Given the description of an element on the screen output the (x, y) to click on. 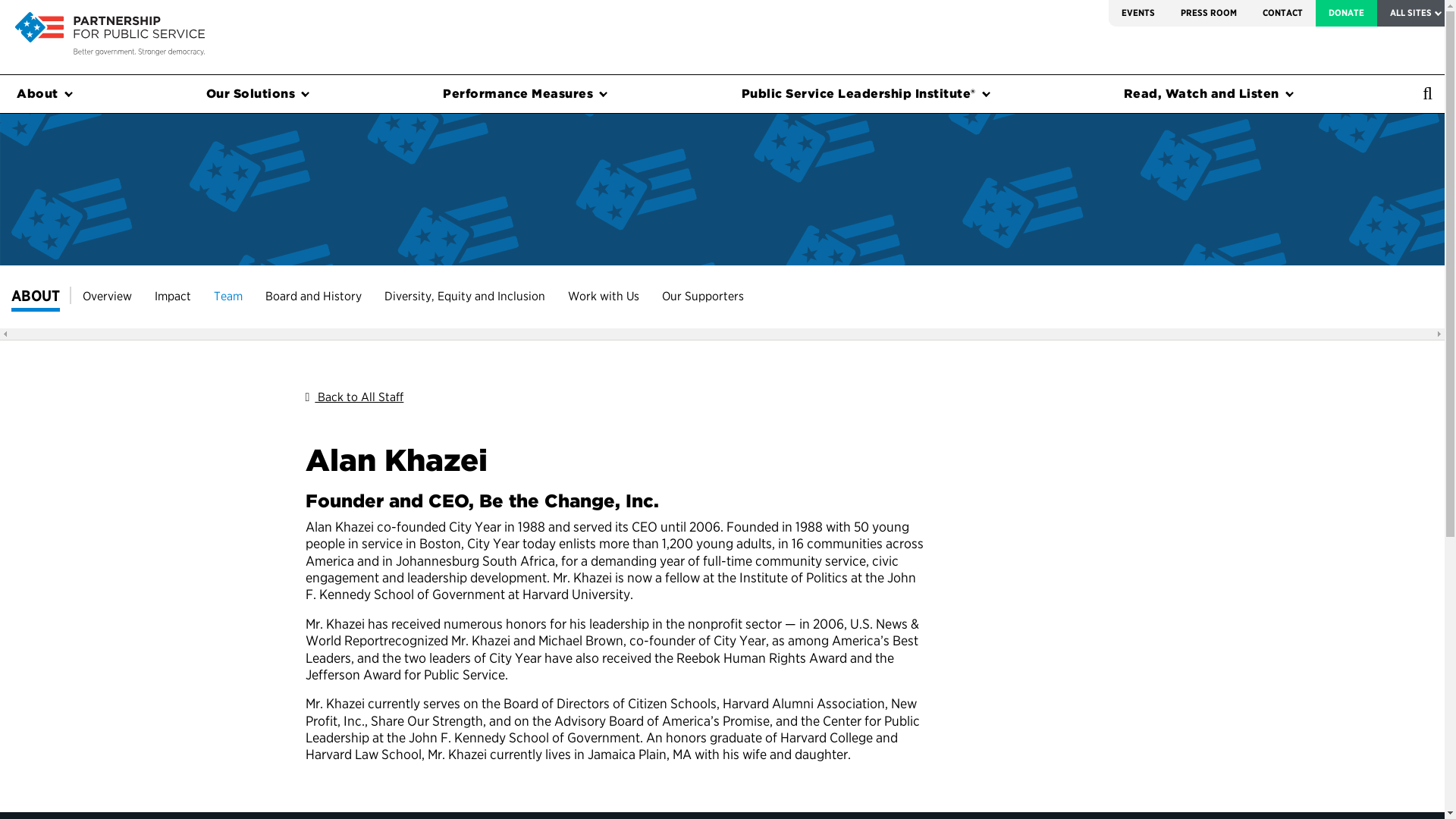
Events (1137, 13)
About (41, 94)
DONATE (1346, 13)
About (41, 94)
CONTACT (1282, 13)
Performance Measures (521, 94)
Contact (1282, 13)
Press Room (1208, 13)
Our Solutions (254, 94)
PRESS ROOM (1208, 13)
Donate (1346, 13)
EVENTS (1137, 13)
